Given the description of an element on the screen output the (x, y) to click on. 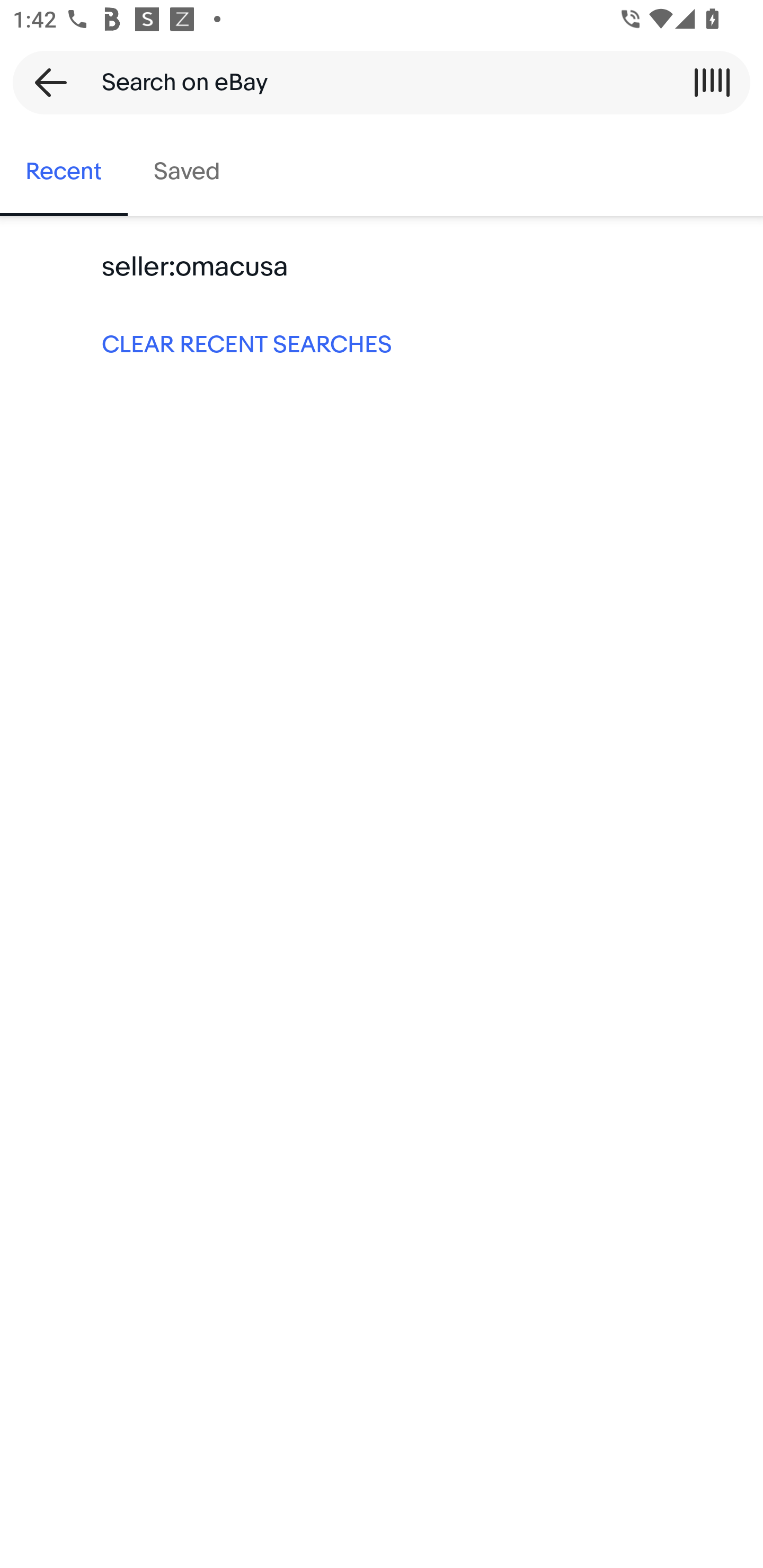
Back (44, 82)
Scan a barcode (711, 82)
Search on eBay (375, 82)
Saved, tab 2 of 2 Saved (186, 171)
seller:omacusa Keyword search seller:omacusa: (381, 266)
CLEAR RECENT SEARCHES (381, 343)
